Given the description of an element on the screen output the (x, y) to click on. 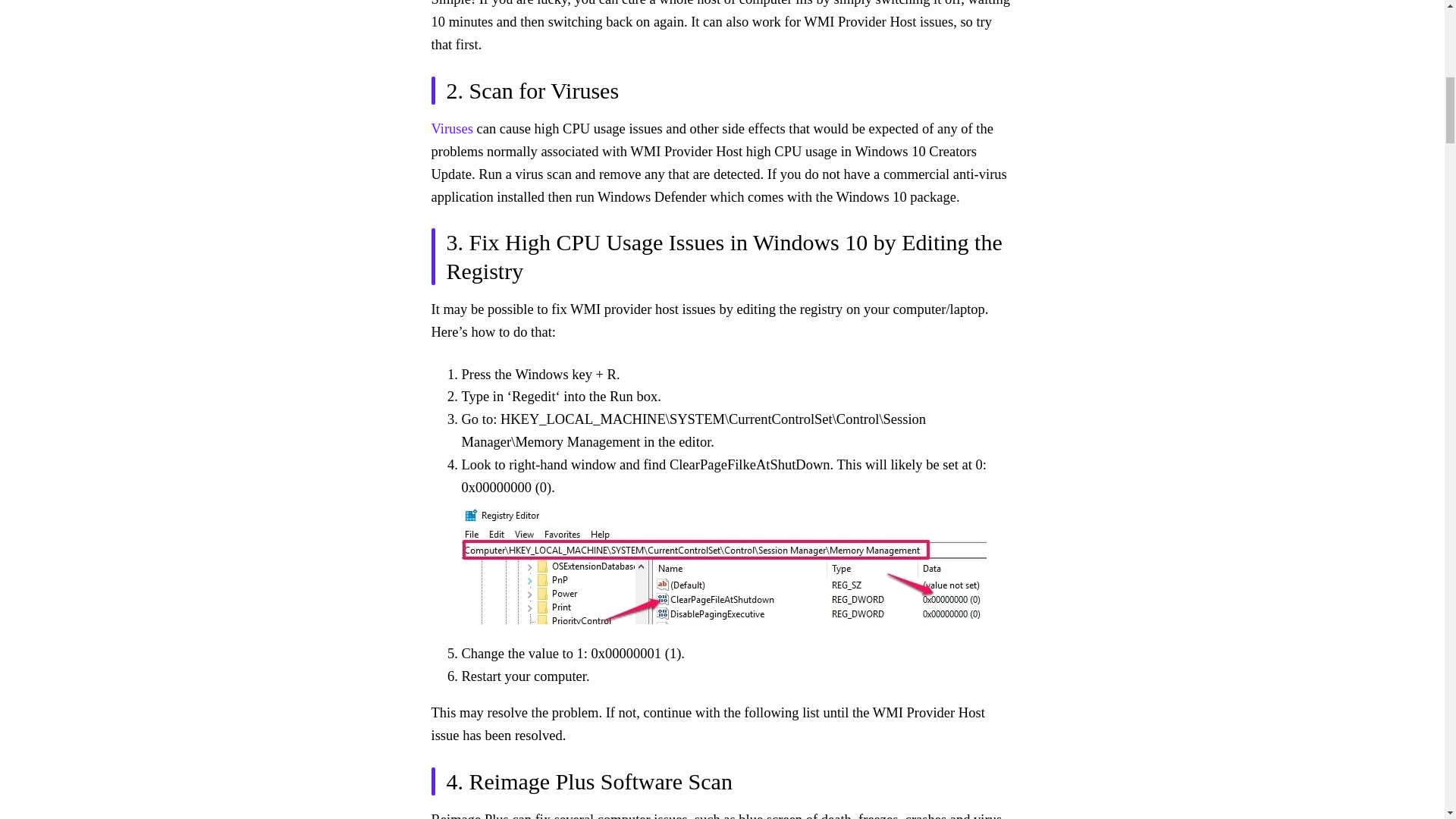
Viruses (450, 128)
